Given the description of an element on the screen output the (x, y) to click on. 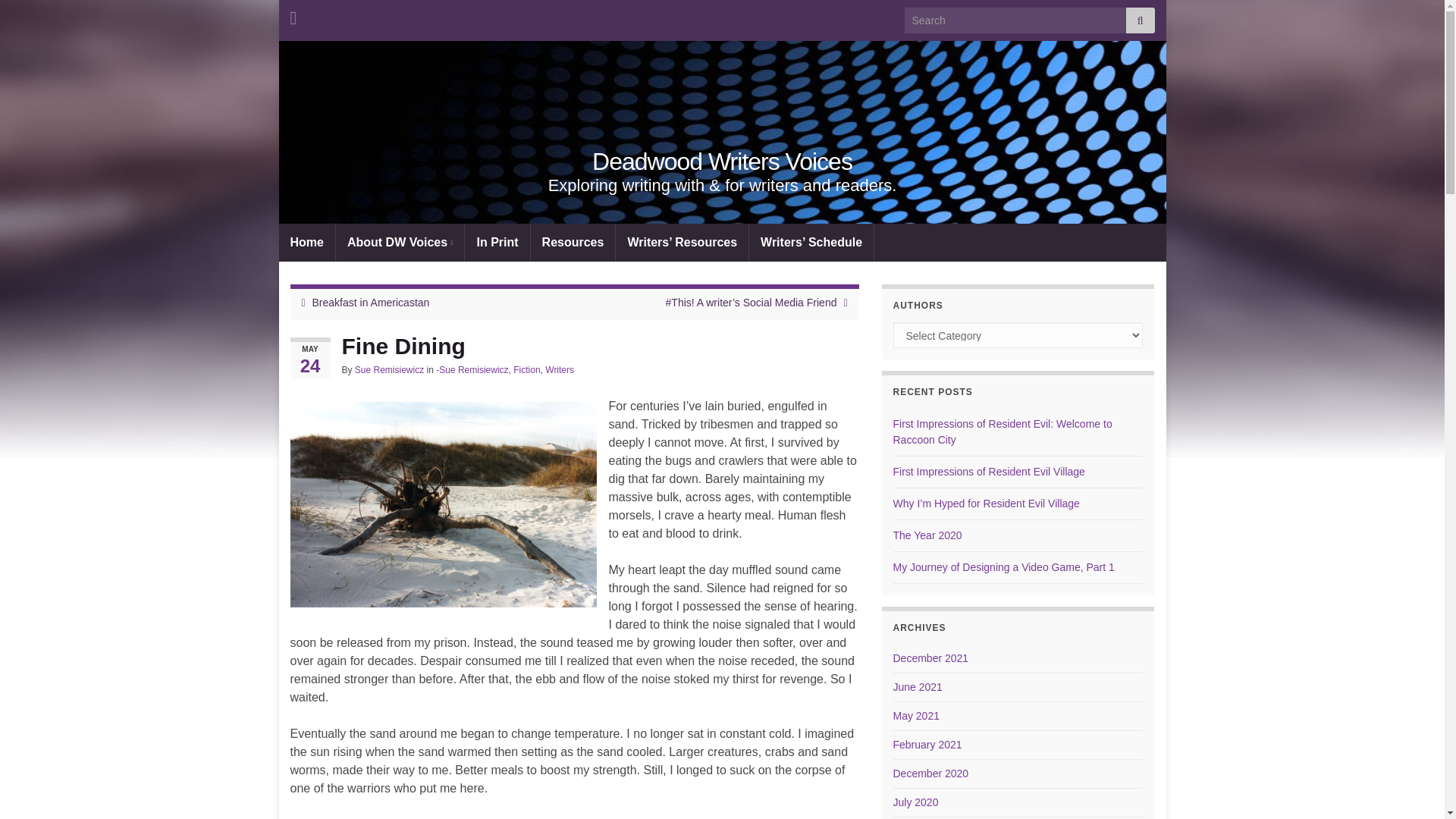
Home (306, 242)
About DW Voices (400, 242)
Writers (558, 369)
Go back to the front page (721, 161)
Deadwood Writers Voices (721, 161)
Sue Remisiewicz (442, 504)
Breakfast in Americastan (371, 302)
Sue Remisiewicz (389, 369)
Resources (573, 242)
In Print (496, 242)
Fiction (526, 369)
-Sue Remisiewicz (471, 369)
